Given the description of an element on the screen output the (x, y) to click on. 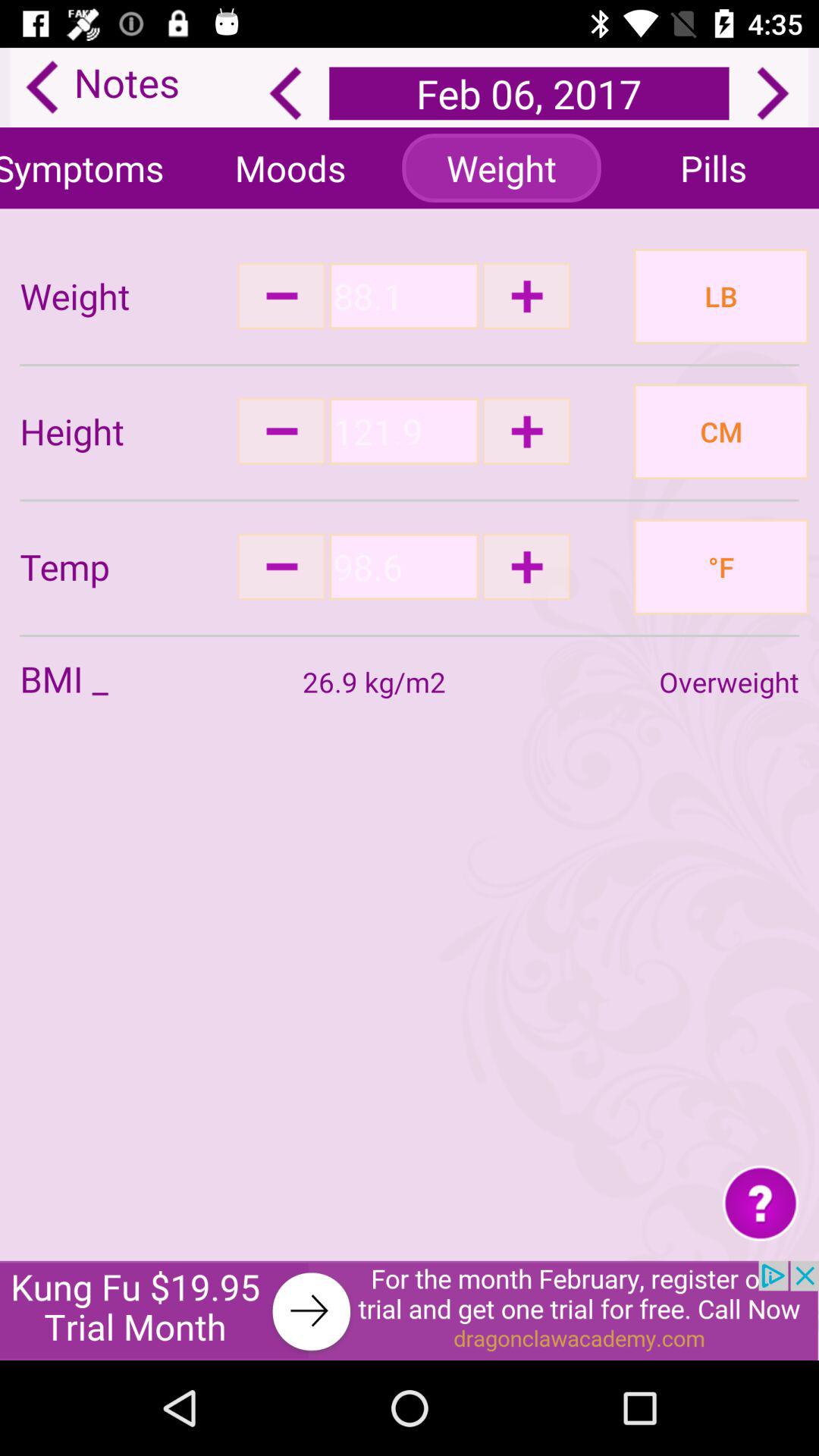
select the weight box (403, 295)
